Given the description of an element on the screen output the (x, y) to click on. 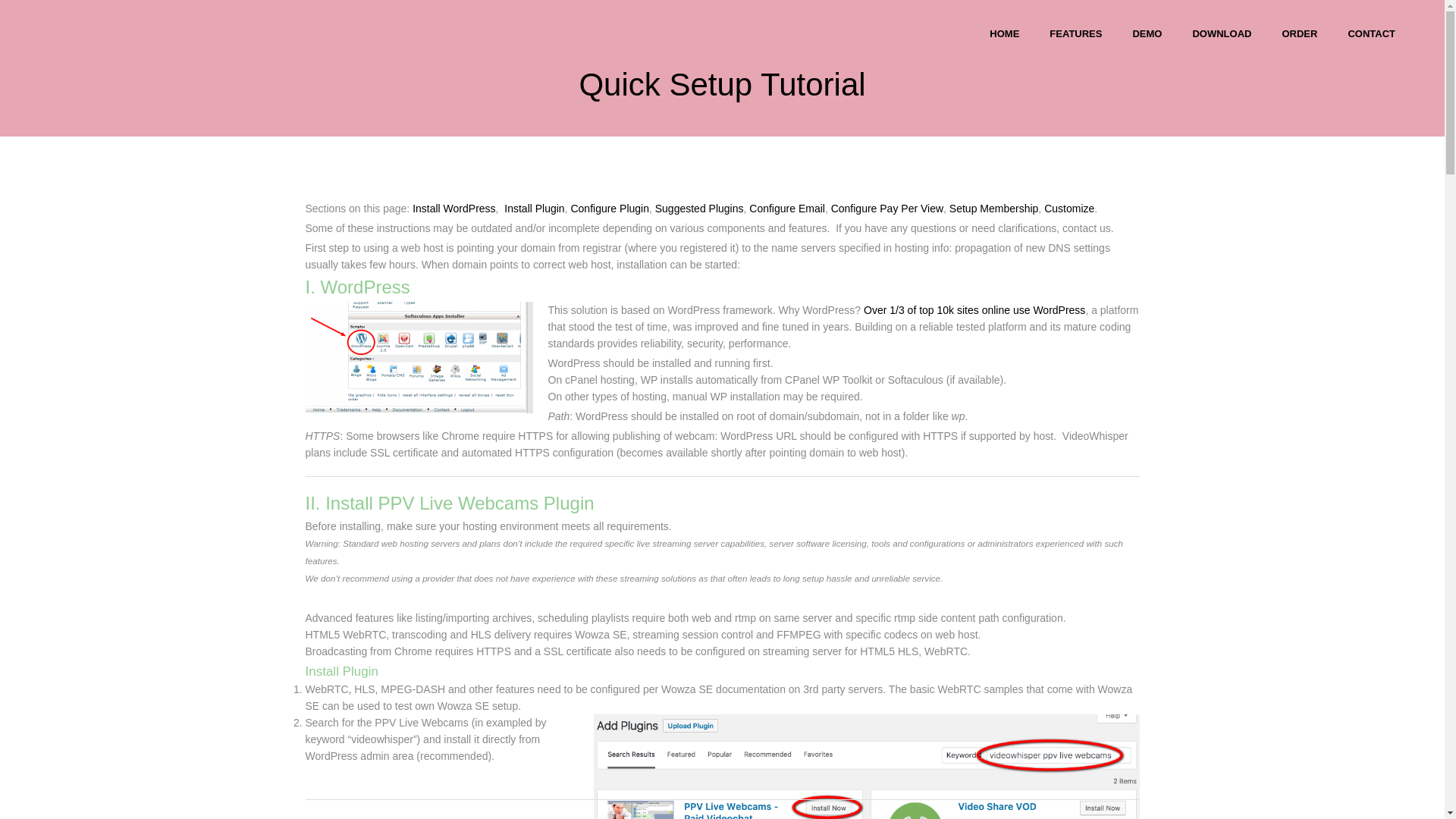
FEATURES (1074, 33)
DOWNLOAD (1221, 33)
CONTACT (1371, 33)
ORDER (1299, 33)
